Given the description of an element on the screen output the (x, y) to click on. 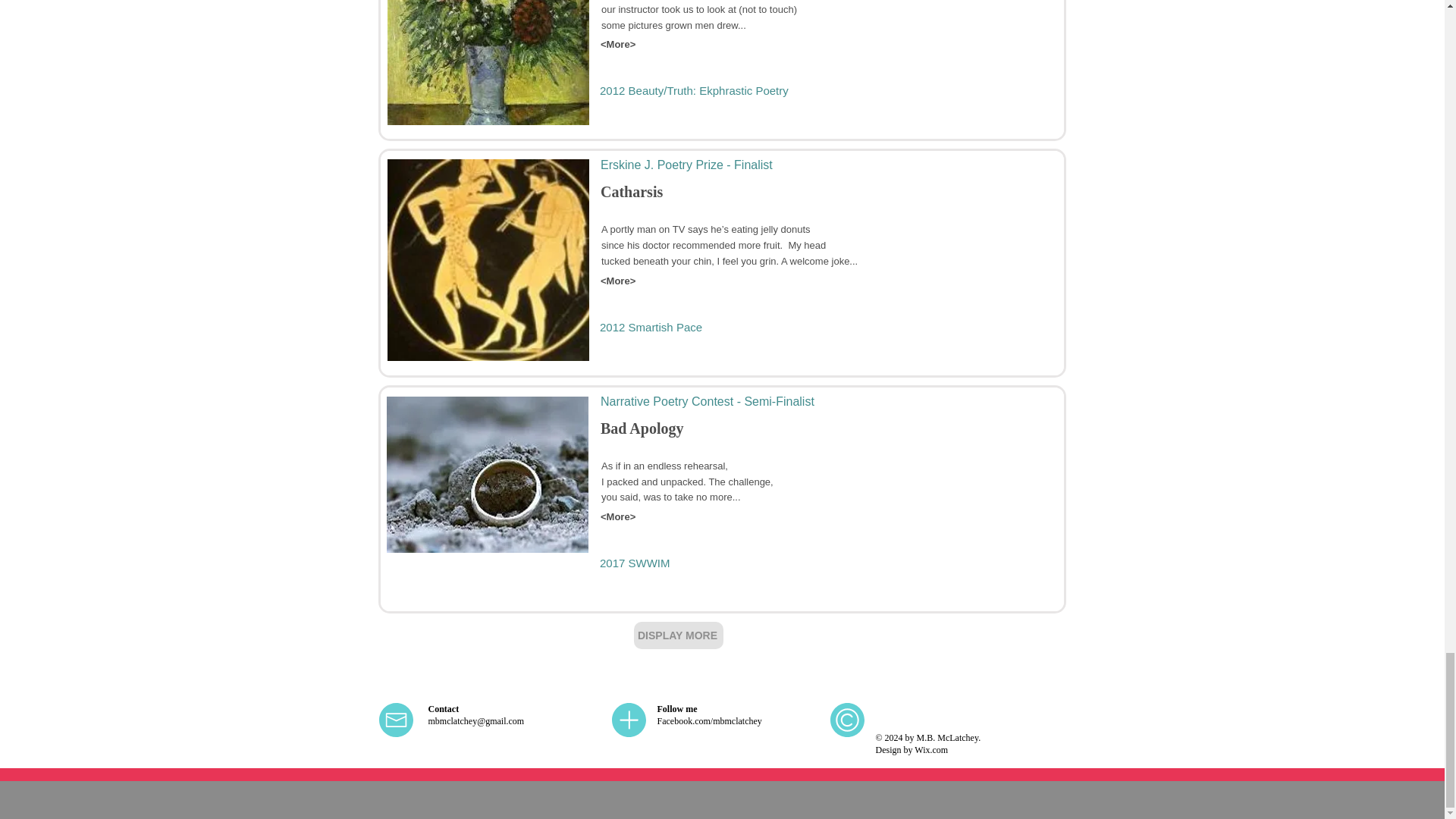
catharsis.jpg (488, 259)
arangement.jpg (488, 62)
badapologyH.jpg (487, 474)
